Given the description of an element on the screen output the (x, y) to click on. 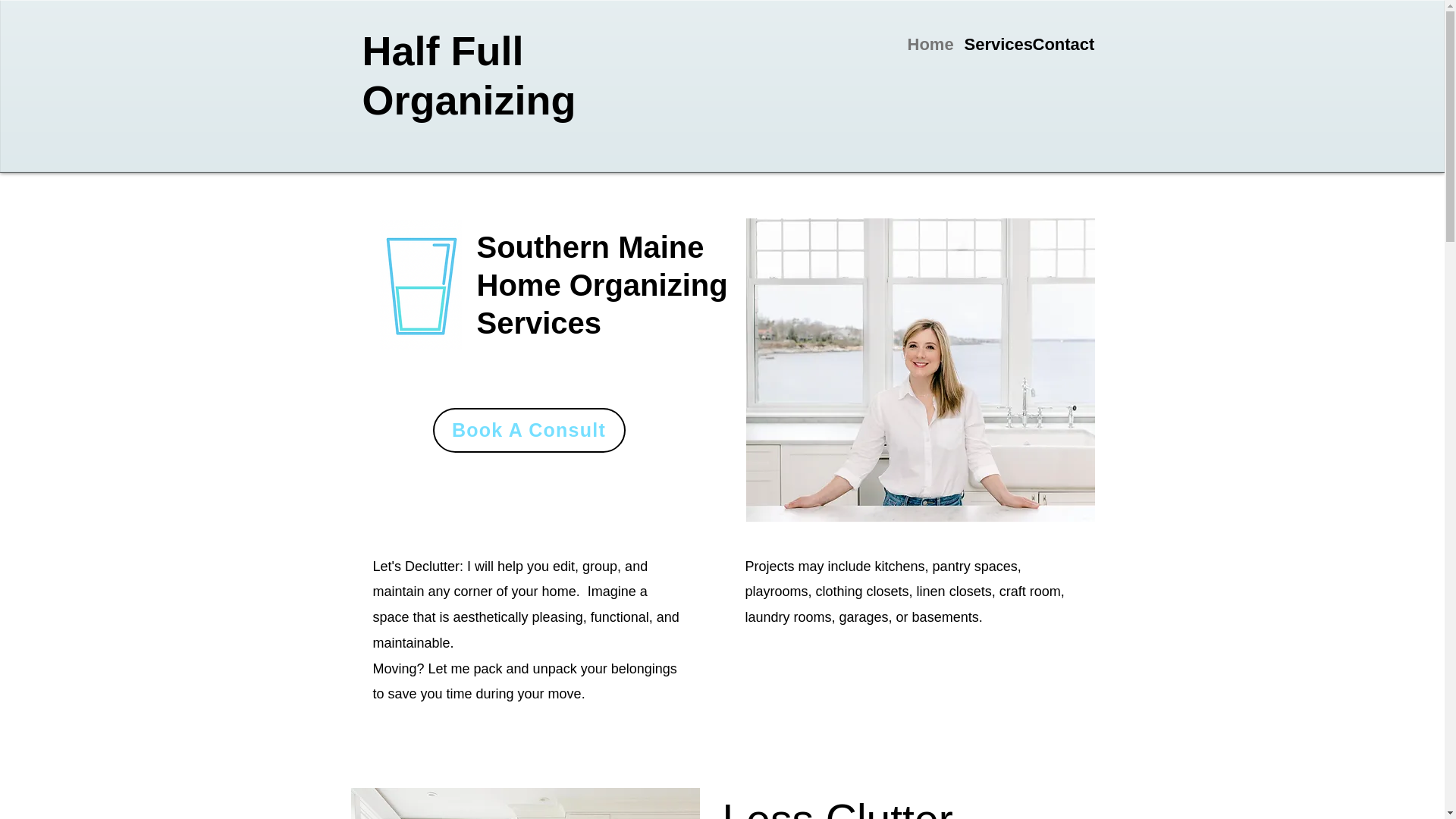
Home (927, 43)
Services (990, 43)
Book A Consult (528, 429)
Contact (1059, 43)
